Given the description of an element on the screen output the (x, y) to click on. 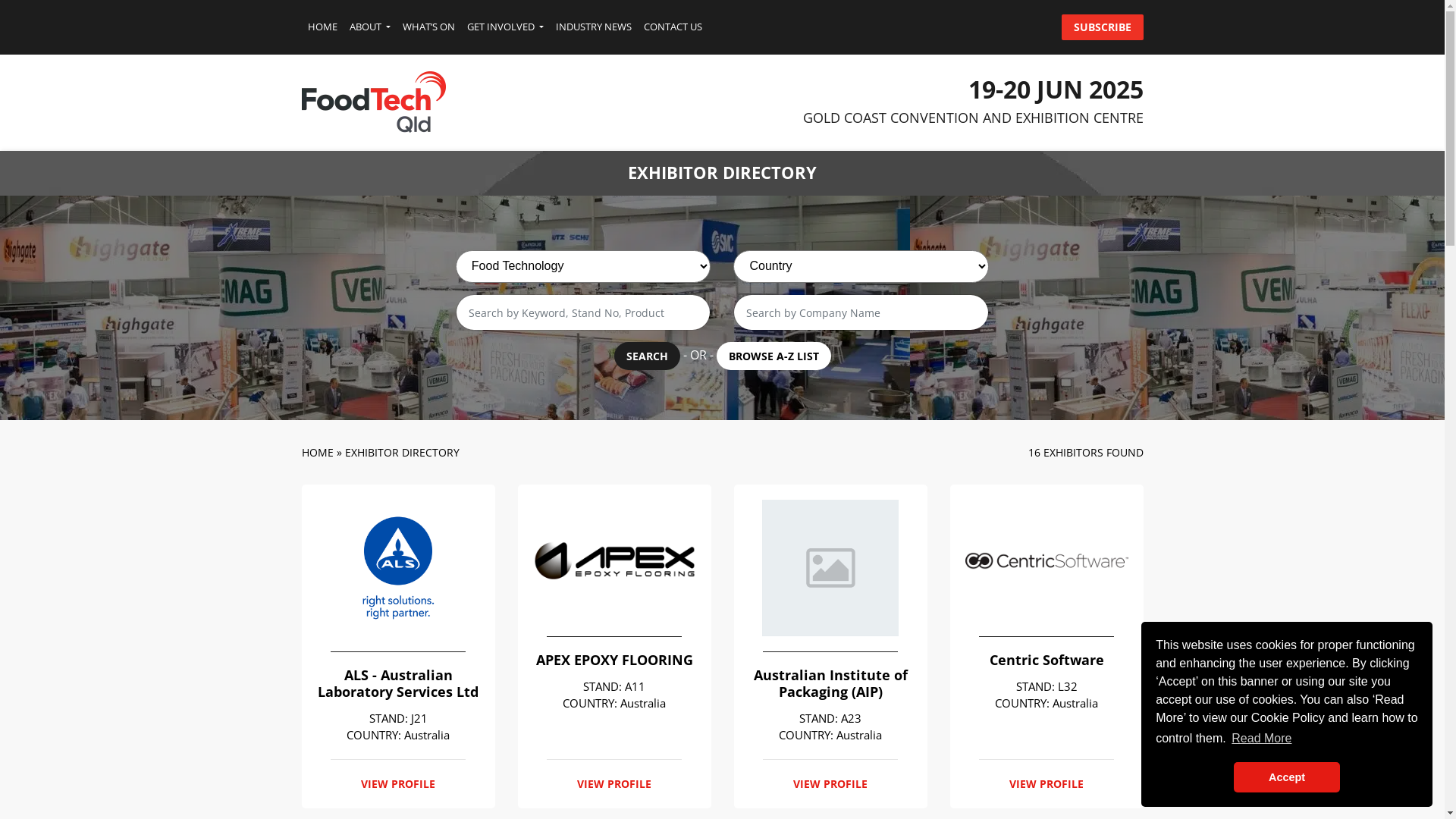
Centric Software Element type: text (1045, 660)
SUBSCRIBE Element type: text (1102, 27)
ALS - Australian Laboratory Services Ltd Element type: text (398, 683)
Read More Element type: text (1261, 738)
APEX EPOXY FLOORING Element type: text (613, 660)
Australian Institute of Packaging (AIP) Element type: text (830, 683)
HOME Element type: text (322, 27)
FoodTech Qld Element type: hover (373, 100)
ABOUT Element type: text (368, 27)
CONTACT US Element type: text (672, 27)
INDUSTRY NEWS Element type: text (593, 27)
HOME Element type: text (317, 452)
BROWSE A-Z LIST Element type: text (772, 356)
Accept Element type: text (1286, 777)
SEARCH Element type: text (647, 356)
GET INVOLVED Element type: text (505, 27)
